Given the description of an element on the screen output the (x, y) to click on. 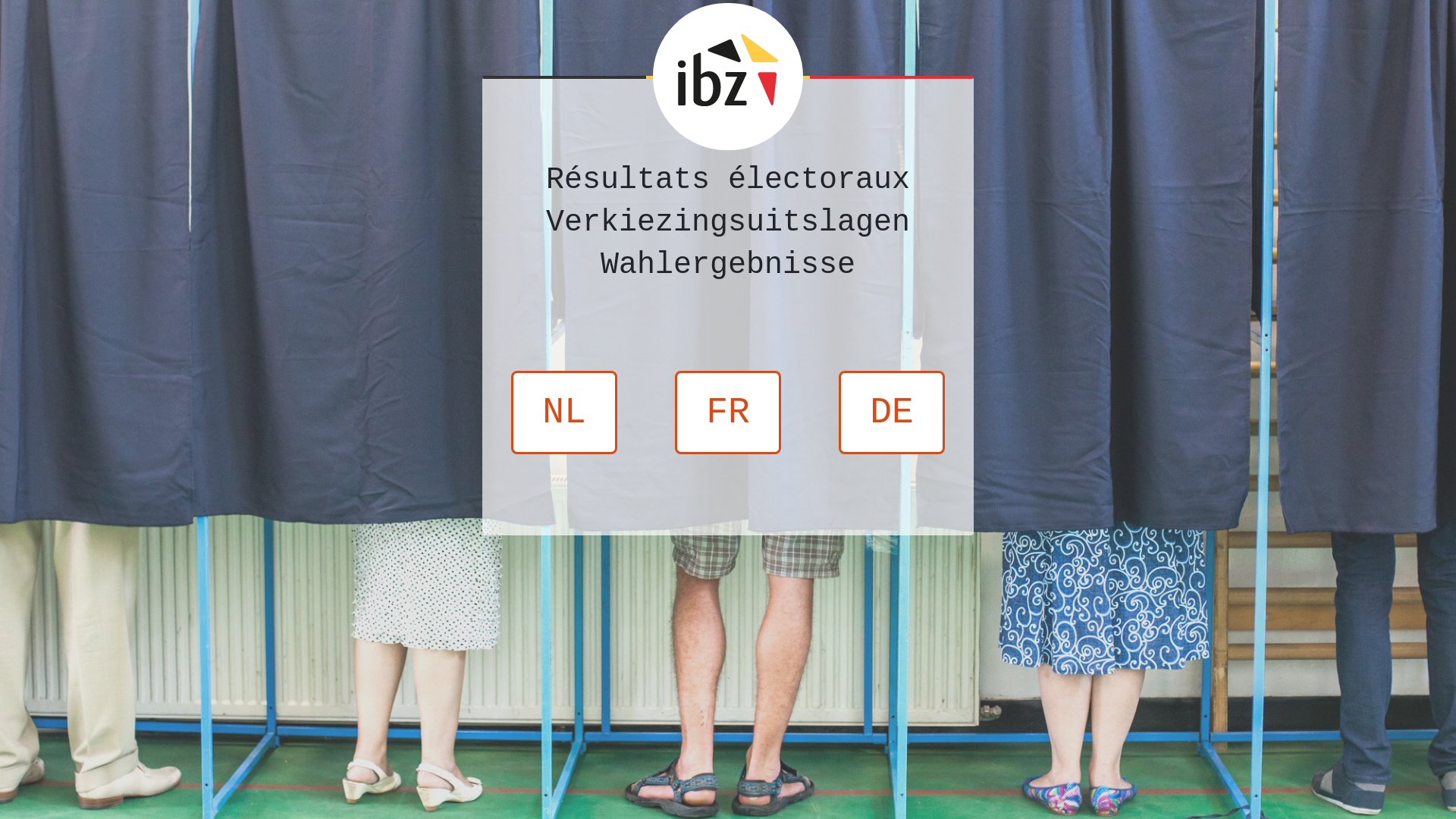
DE Element type: text (891, 412)
FR Element type: text (727, 412)
NL Element type: text (564, 412)
